Given the description of an element on the screen output the (x, y) to click on. 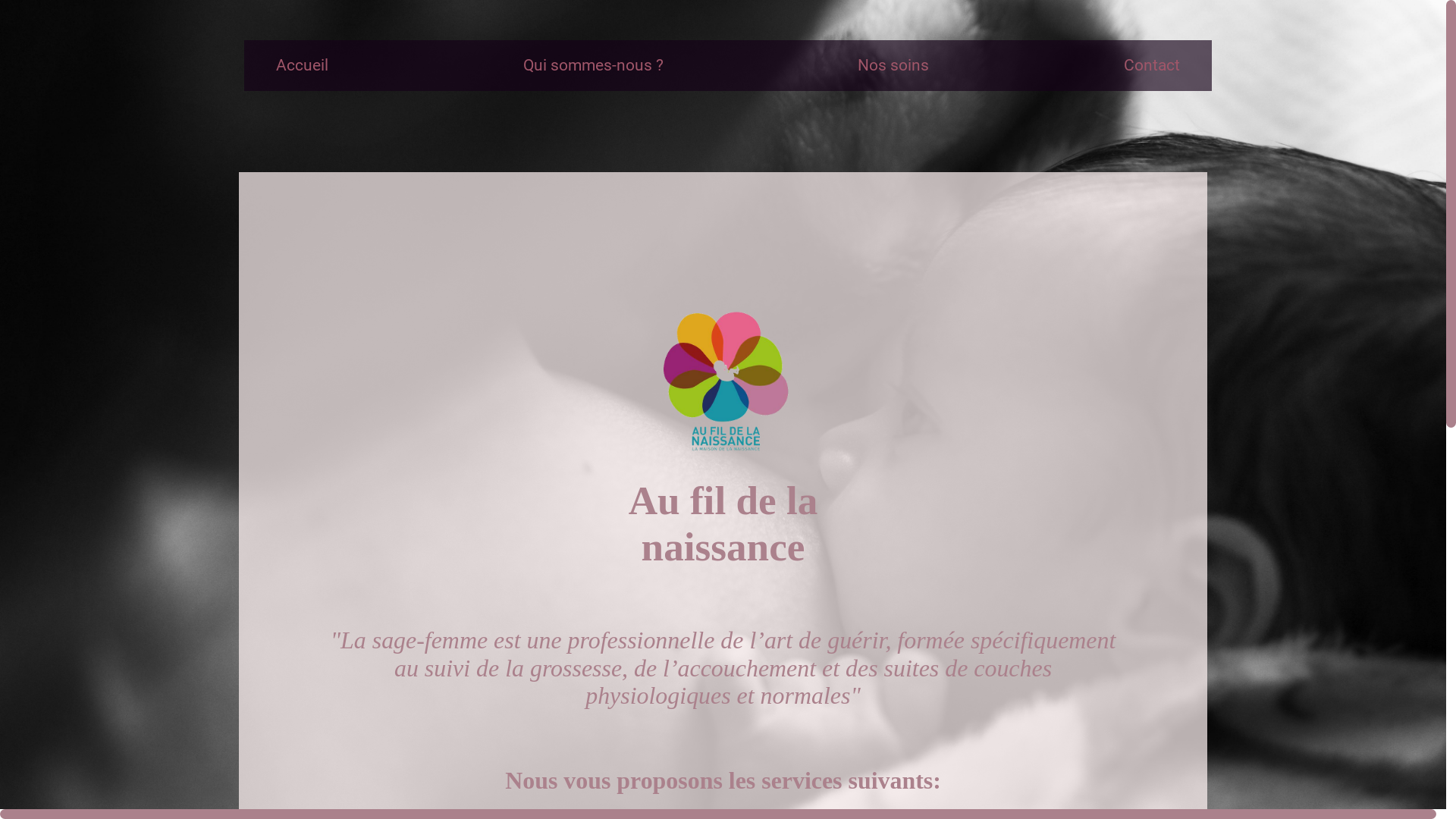
Qui sommes-nous ? Element type: text (592, 65)
Accueil Element type: text (302, 65)
Contact Element type: text (1151, 65)
Nos soins Element type: text (893, 65)
